Given the description of an element on the screen output the (x, y) to click on. 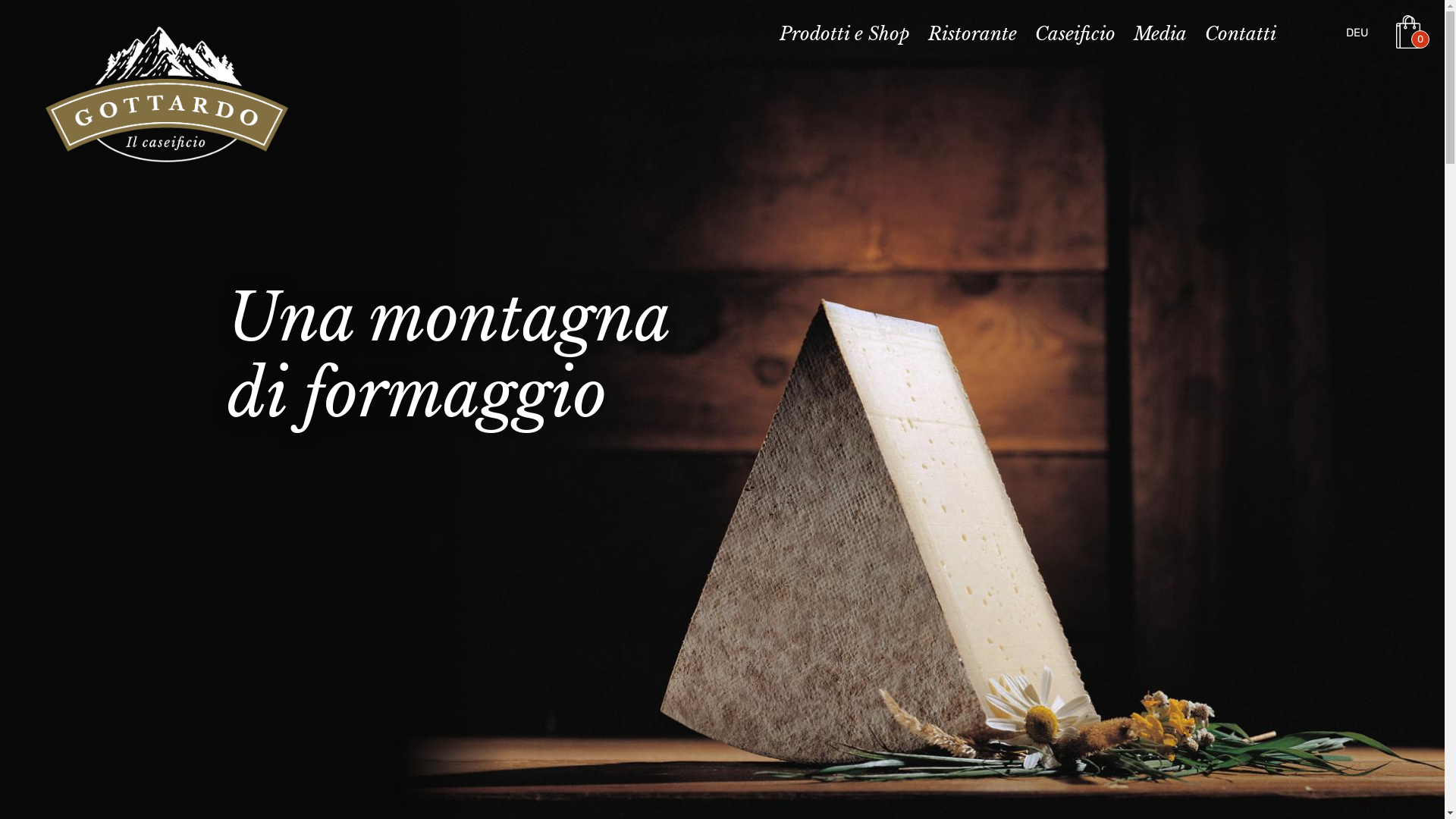
Caseificio Element type: text (1075, 35)
Ristorante Element type: text (972, 35)
Contatti Element type: text (1240, 35)
Prodotti e Shop Element type: text (844, 35)
Media Element type: text (1160, 35)
0 Element type: text (1412, 31)
DEU Element type: text (1357, 32)
